Given the description of an element on the screen output the (x, y) to click on. 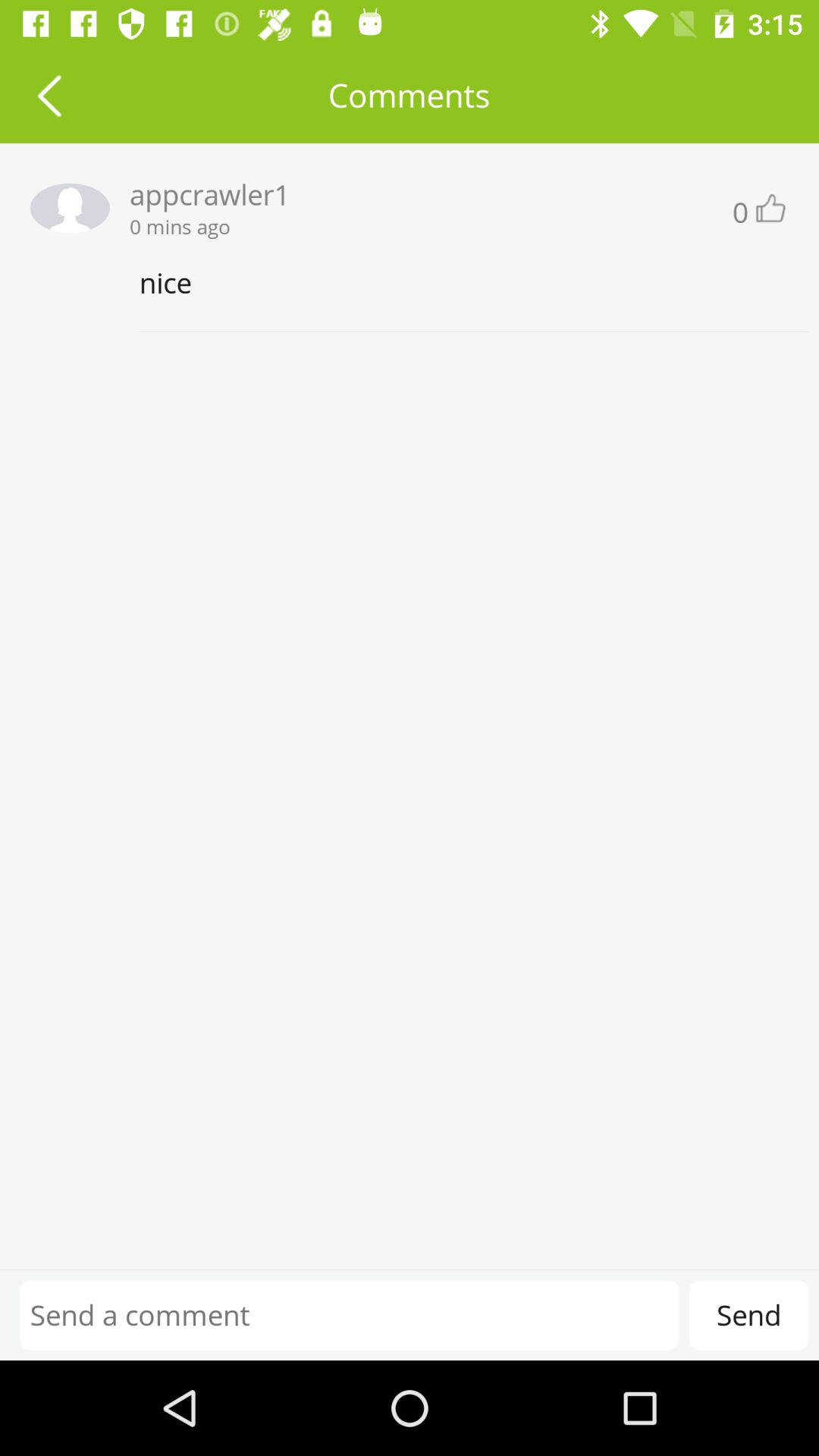
positively rate the application appcrawler1 (768, 207)
